Given the description of an element on the screen output the (x, y) to click on. 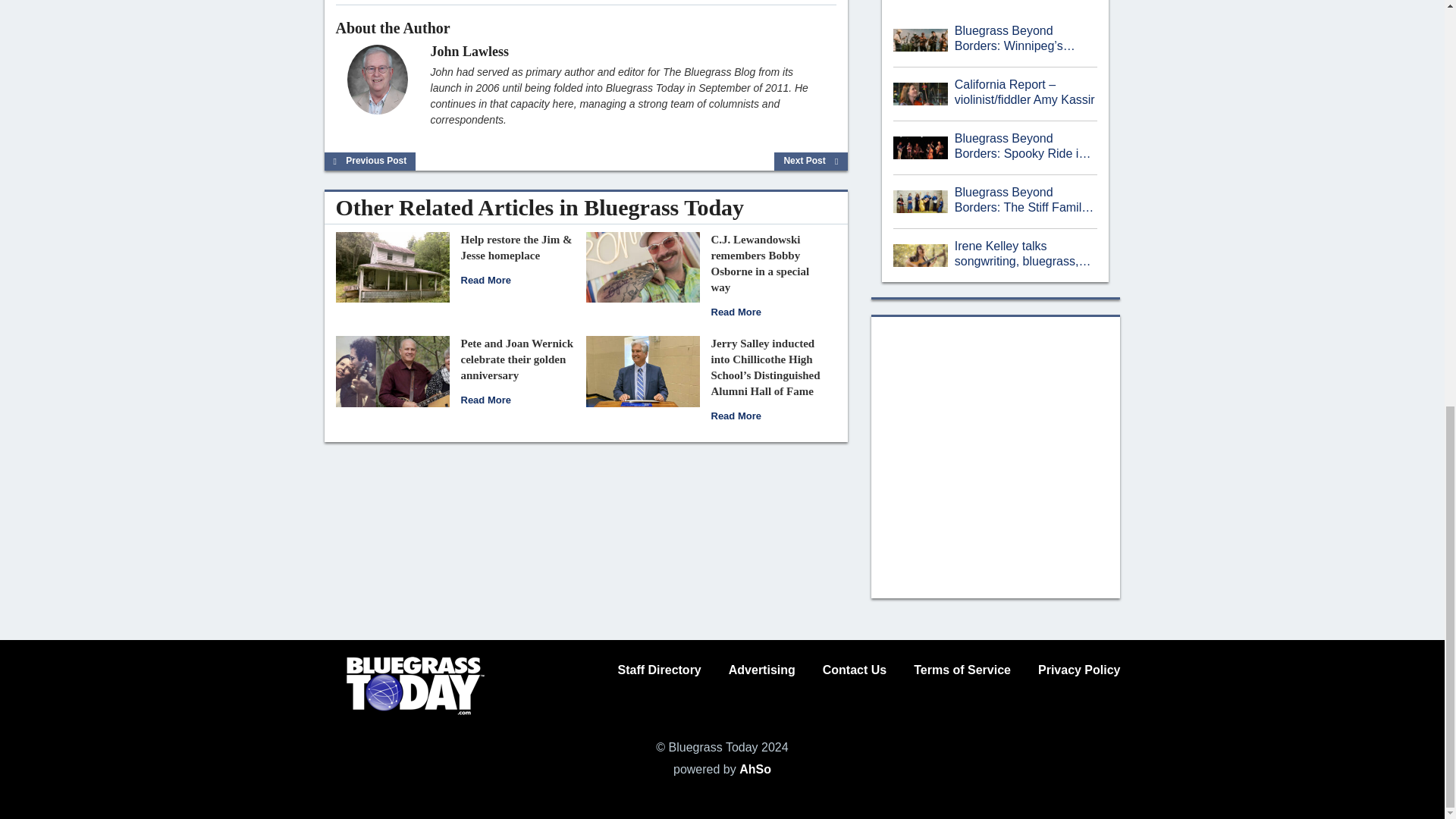
C.J. Lewandowski remembers Bobby Osborne in a special way (641, 266)
C.J. Lewandowski remembers Bobby Osborne in a special way (760, 263)
Pete and Joan Wernick celebrate their golden anniversary (486, 399)
Previous Post (370, 160)
C.J. Lewandowski remembers Bobby Osborne in a special way (736, 311)
Next Post (810, 160)
Pete and Joan Wernick celebrate their golden anniversary (517, 359)
Pete and Joan Wernick celebrate their golden anniversary (391, 369)
